Given the description of an element on the screen output the (x, y) to click on. 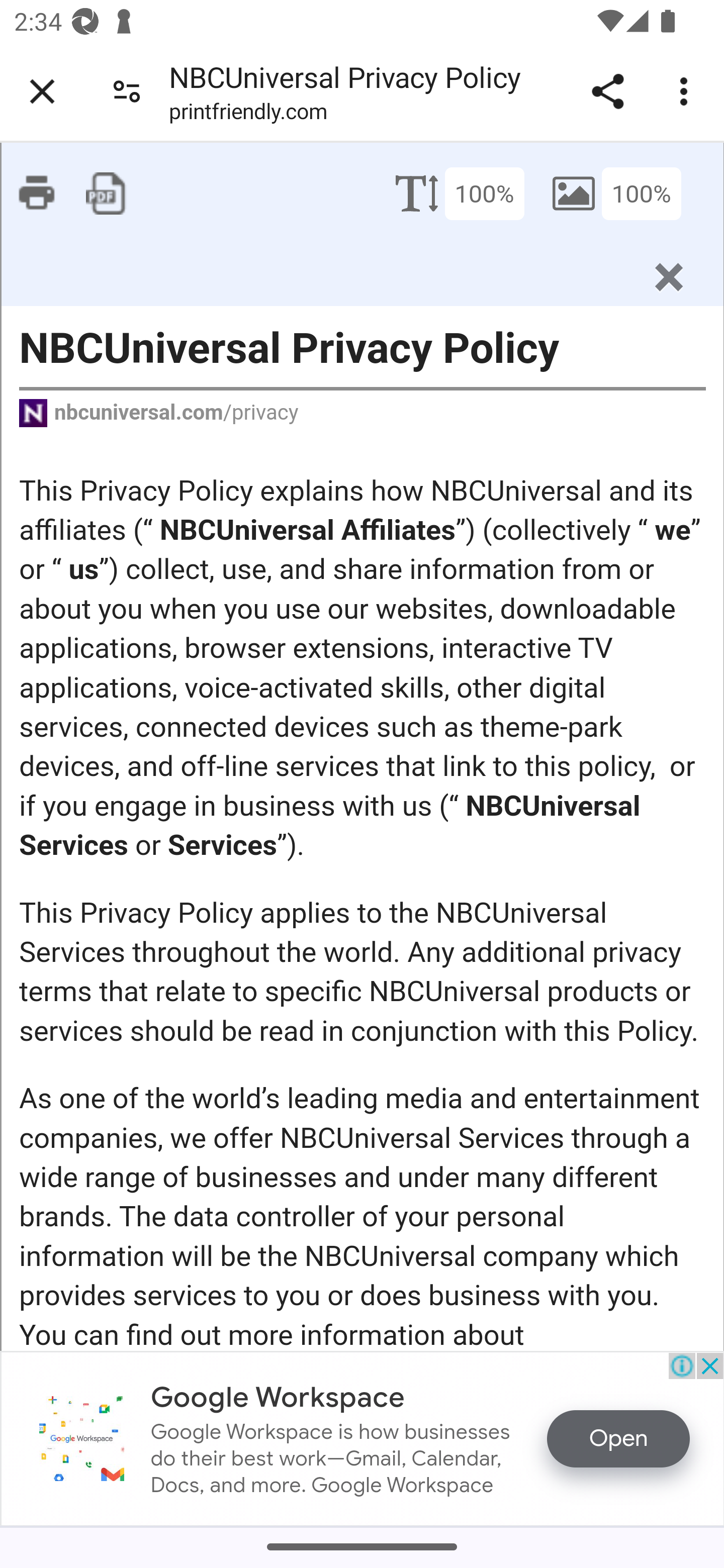
Close tab (42, 91)
Share (607, 91)
Customize and control Google Chrome (687, 91)
Connection is secure (126, 90)
printfriendly.com (247, 114)
100% (483, 192)
100% (640, 192)
Close (667, 276)
Google Workspace (277, 1396)
Google Workspace (81, 1438)
Open (618, 1438)
